Given the description of an element on the screen output the (x, y) to click on. 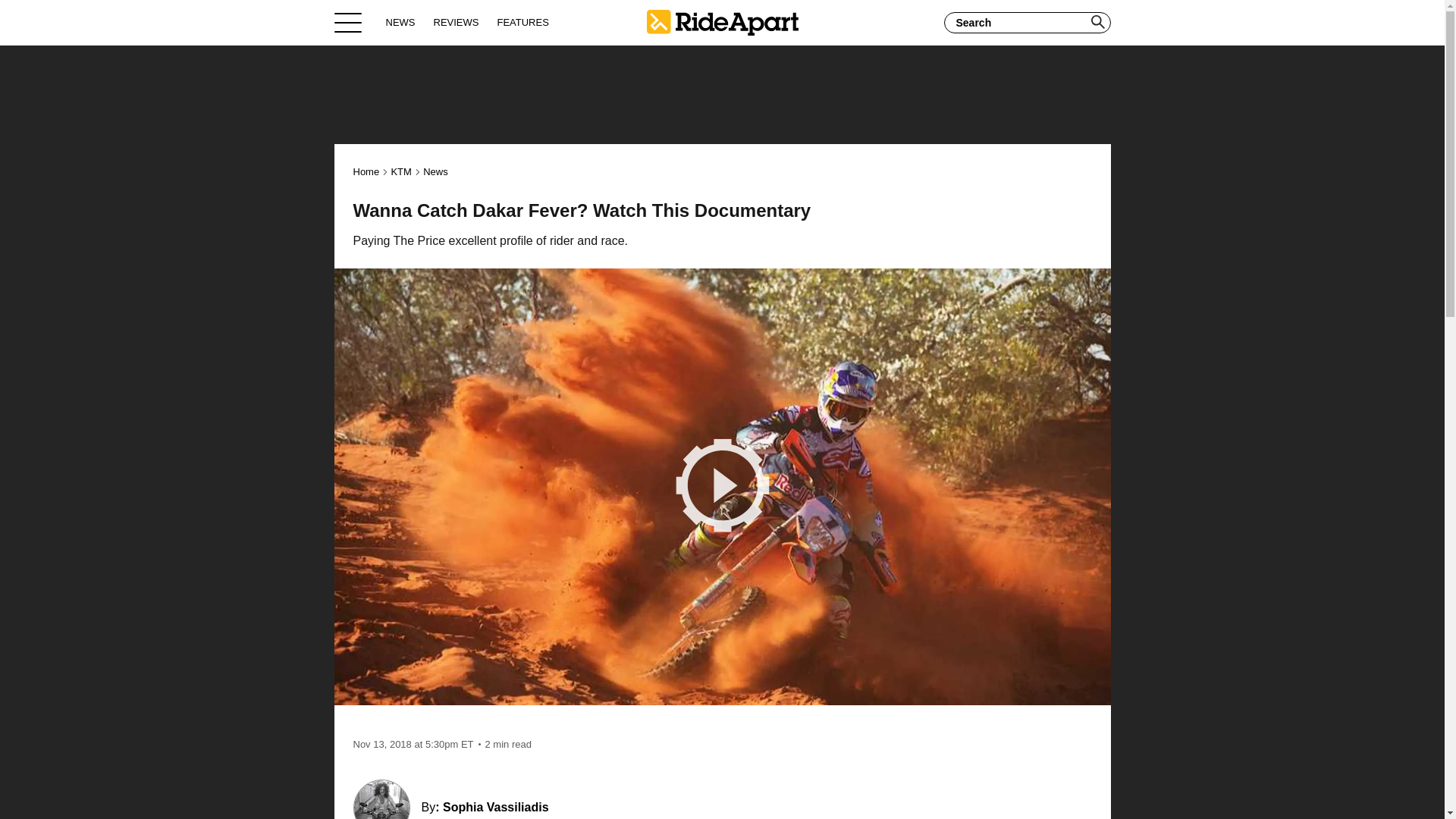
News (435, 171)
Home (366, 171)
Sophia Vassiliadis (495, 807)
FEATURES (522, 22)
REVIEWS (456, 22)
KTM (400, 171)
Home (721, 22)
NEWS (399, 22)
